Given the description of an element on the screen output the (x, y) to click on. 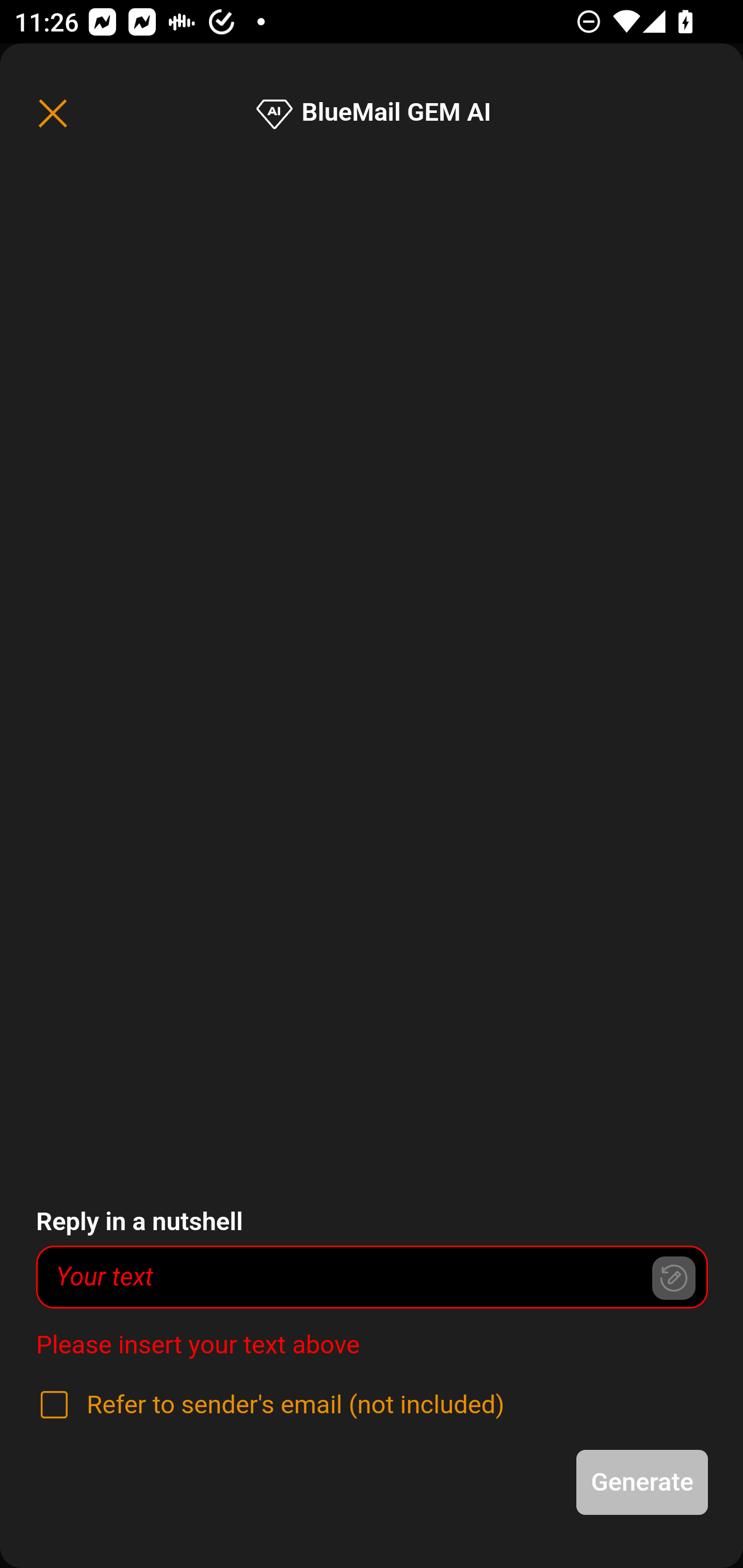
Generate (642, 1482)
